Given the description of an element on the screen output the (x, y) to click on. 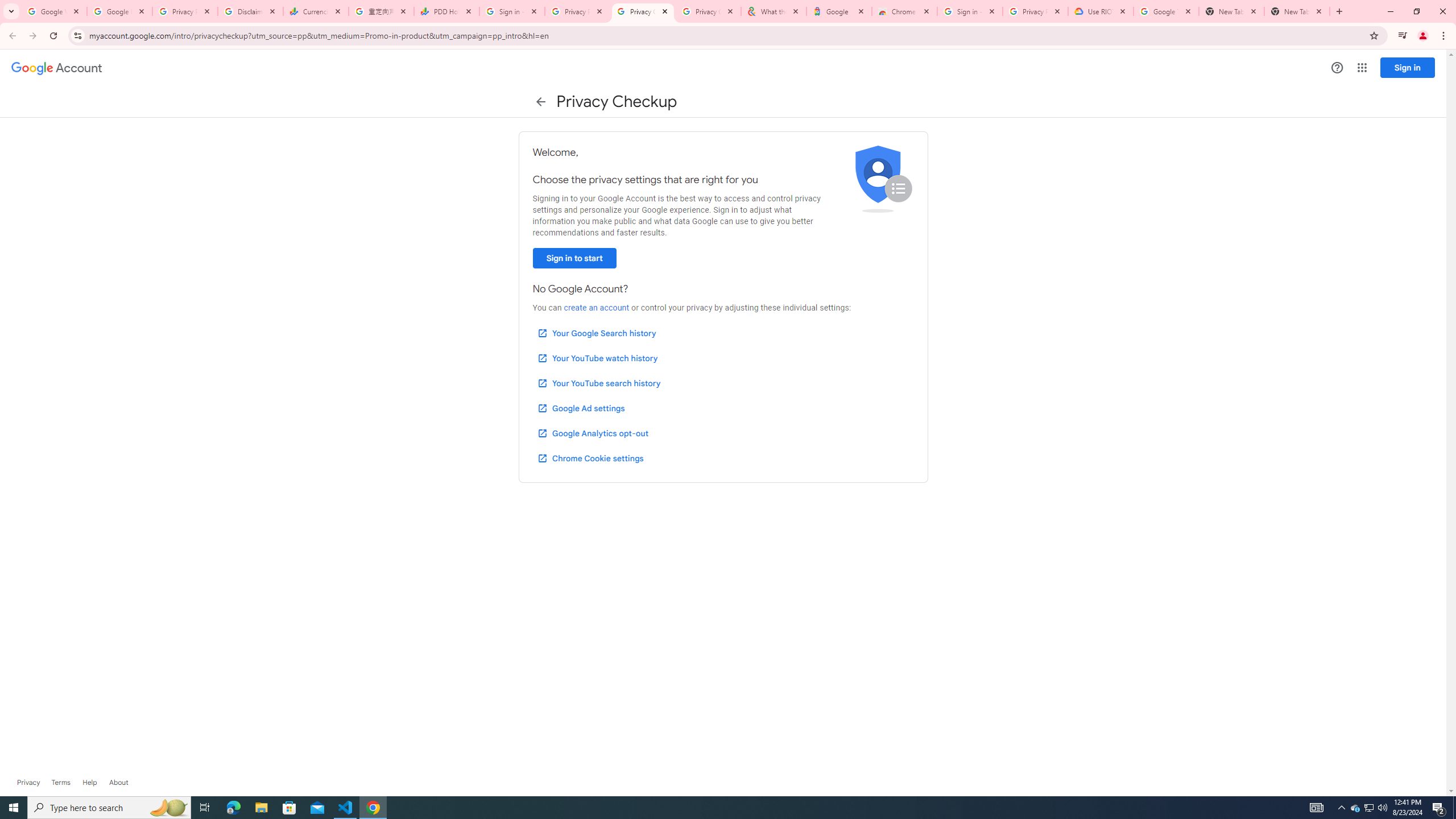
Google Workspace Admin Community (53, 11)
Chrome Cookie settings (589, 457)
Google (838, 11)
Your Google Search history (596, 332)
Sign in - Google Accounts (512, 11)
Privacy (28, 782)
Learn more about Google Account (118, 782)
